Given the description of an element on the screen output the (x, y) to click on. 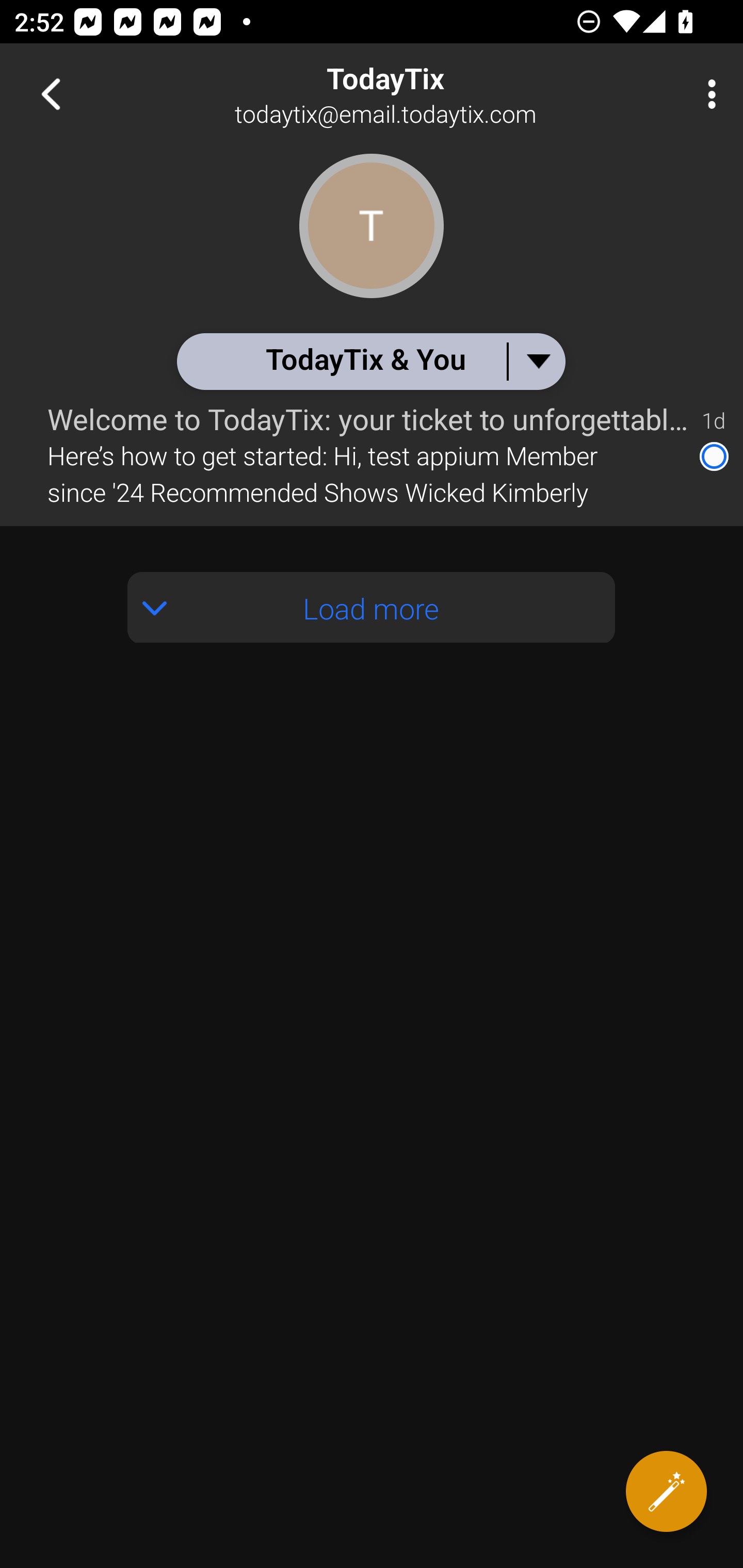
Navigate up (50, 93)
TodayTix todaytix@email.todaytix.com (436, 93)
More Options (706, 93)
TodayTix & You (370, 361)
Load more (371, 584)
Load more (371, 607)
